Given the description of an element on the screen output the (x, y) to click on. 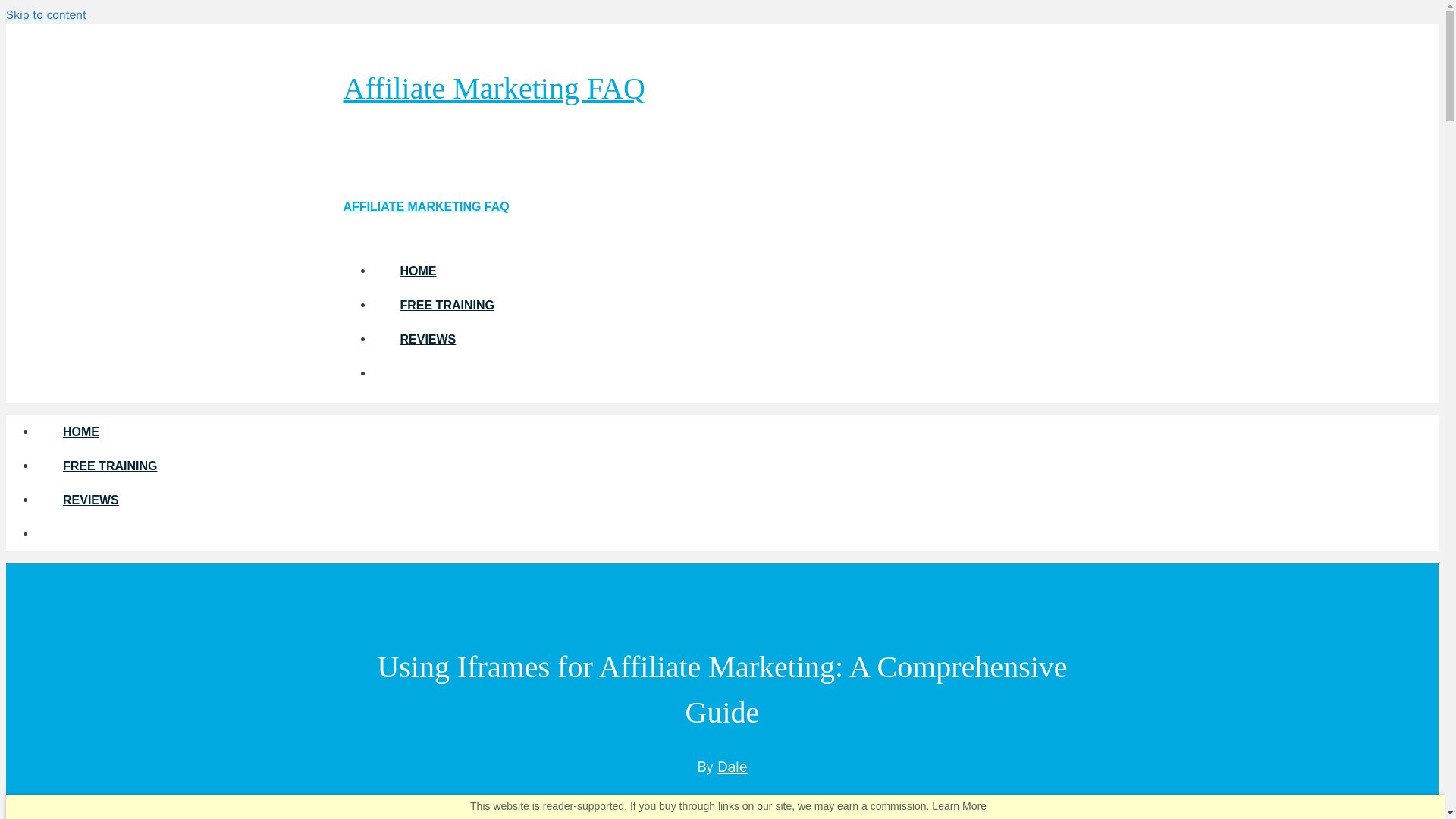
FREE TRAINING (109, 465)
Dale (732, 766)
Skip to content (45, 14)
HOME (417, 270)
Learn More (959, 806)
View all posts by Dale (732, 766)
REVIEWS (426, 338)
HOME (80, 431)
FREE TRAINING (445, 305)
Affiliate Marketing FAQ (493, 88)
AFFILIATE MARKETING FAQ (425, 205)
Skip to content (45, 14)
REVIEWS (90, 499)
